Given the description of an element on the screen output the (x, y) to click on. 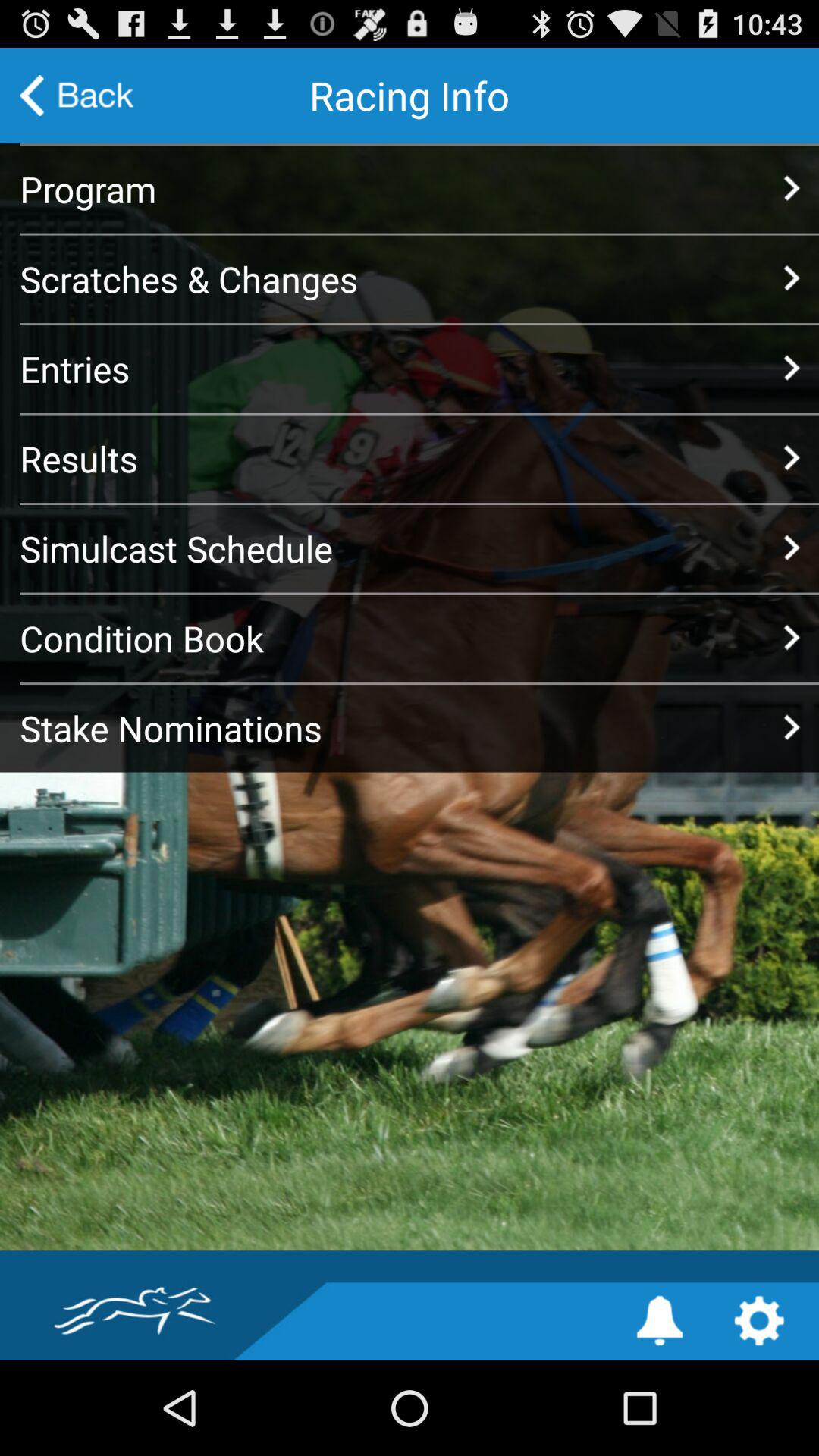
tap notification optiion (659, 1320)
